Given the description of an element on the screen output the (x, y) to click on. 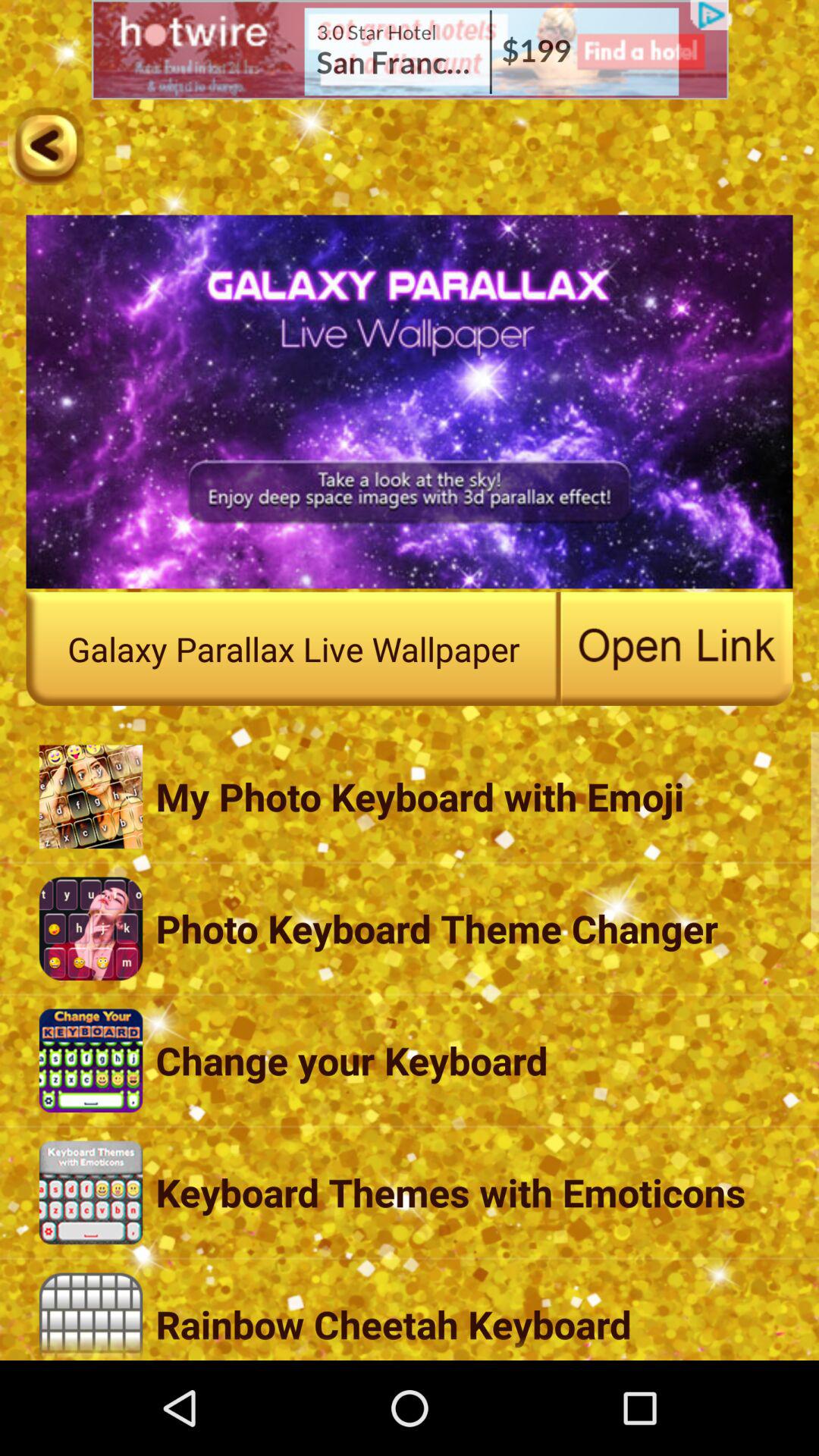
visit advertisement (409, 49)
